Given the description of an element on the screen output the (x, y) to click on. 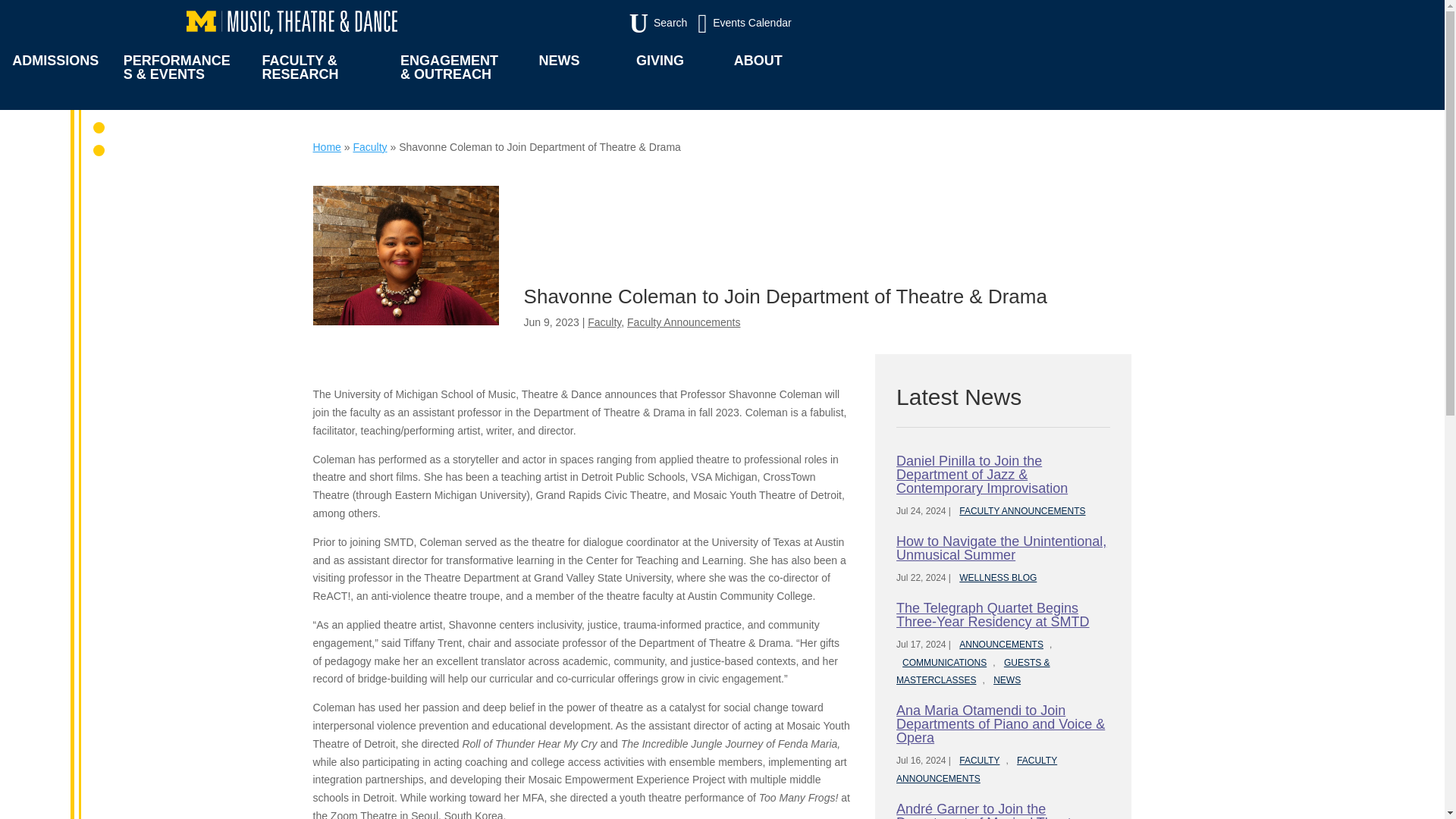
ADMISSIONS (55, 76)
Shavonne-Coleman (621, 24)
Events Calendar (406, 255)
